Given the description of an element on the screen output the (x, y) to click on. 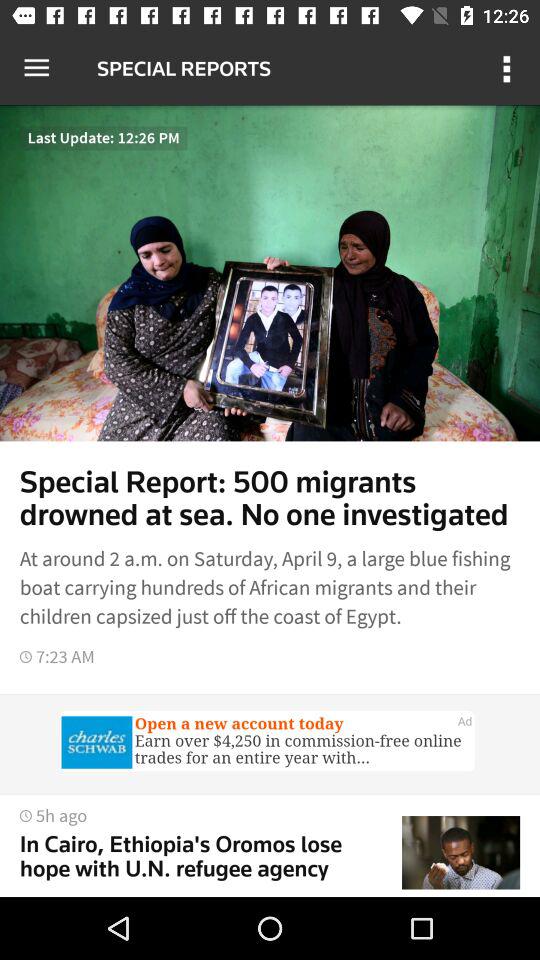
open advertisement (270, 743)
